Given the description of an element on the screen output the (x, y) to click on. 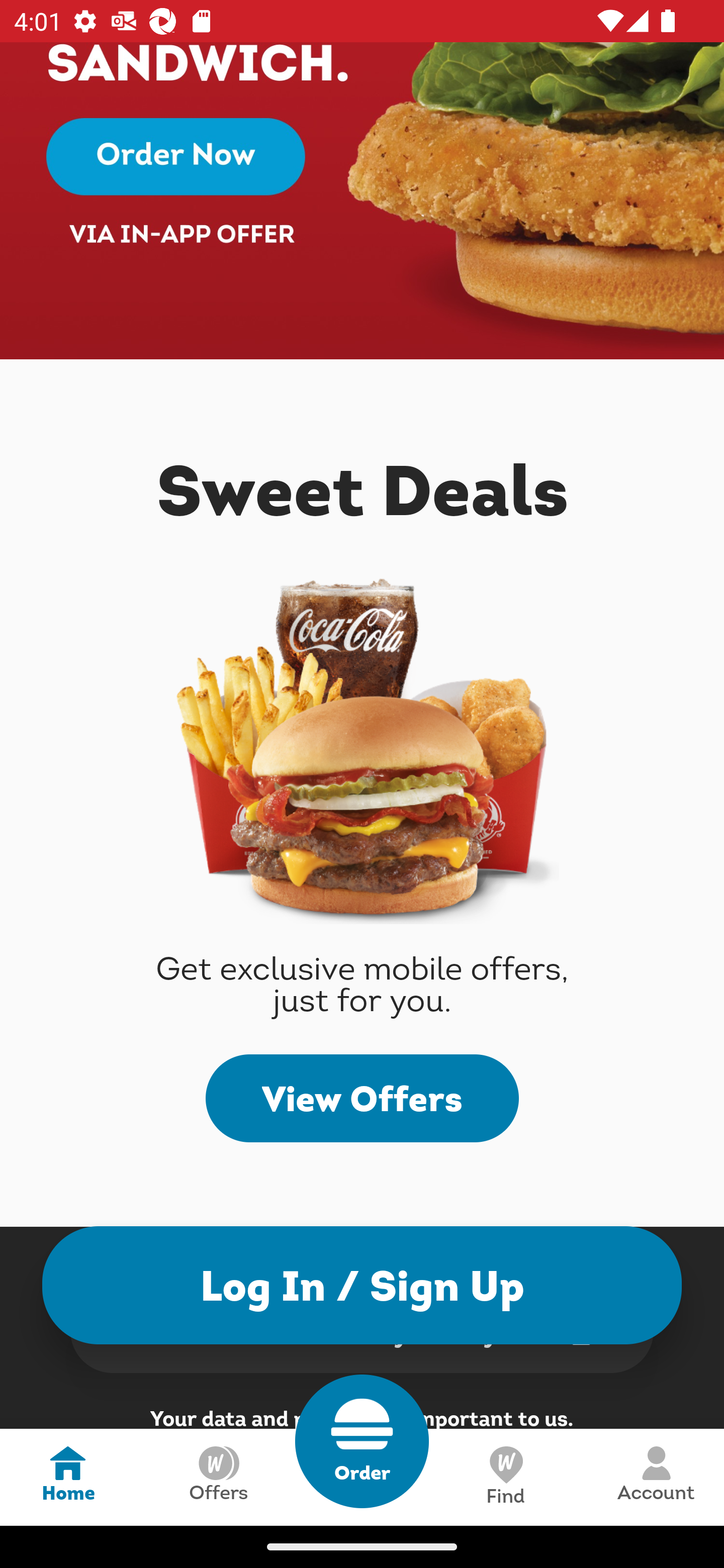
Campaign image (362, 200)
View Offers (362, 1098)
Log In / Sign Up (361, 1284)
Order,3 of 5 Order (361, 1441)
Home,1 of 5 Home (68, 1476)
Rewards,2 of 5 Offers Offers (218, 1476)
Scan,4 of 5 Find Find (505, 1476)
Account,5 of 5 Account (655, 1476)
